Given the description of an element on the screen output the (x, y) to click on. 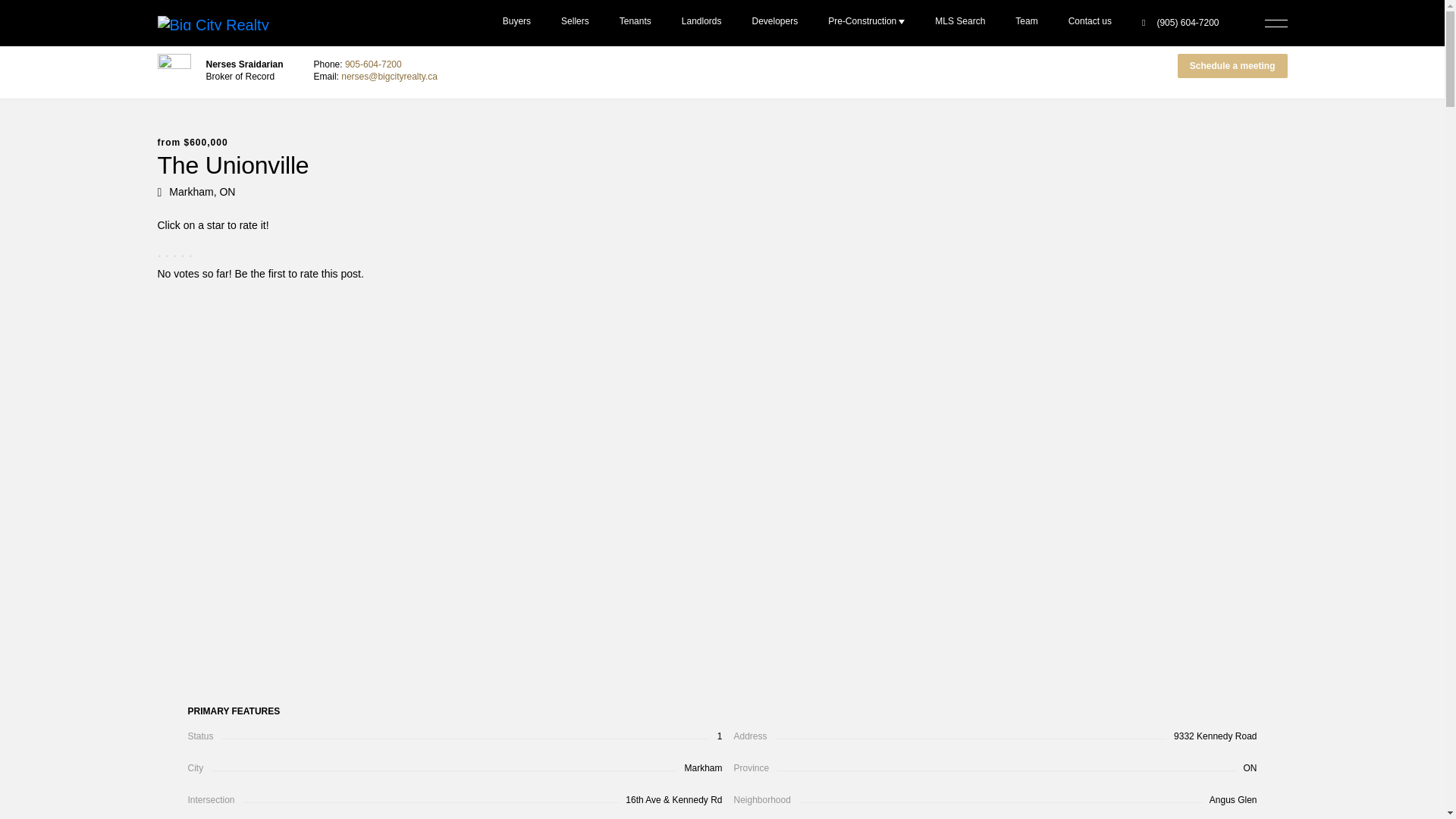
Pre-Construction (866, 22)
Sellers (575, 22)
MLS Search (960, 22)
Developers (774, 22)
Developers (774, 22)
Landlords (701, 22)
MLS Search (960, 22)
Tenants (635, 22)
Big City Realty (219, 22)
Tenants (635, 22)
Team (1026, 22)
Sellers (575, 22)
Buyers (516, 22)
Contact us (1089, 22)
Buyers (516, 22)
